Given the description of an element on the screen output the (x, y) to click on. 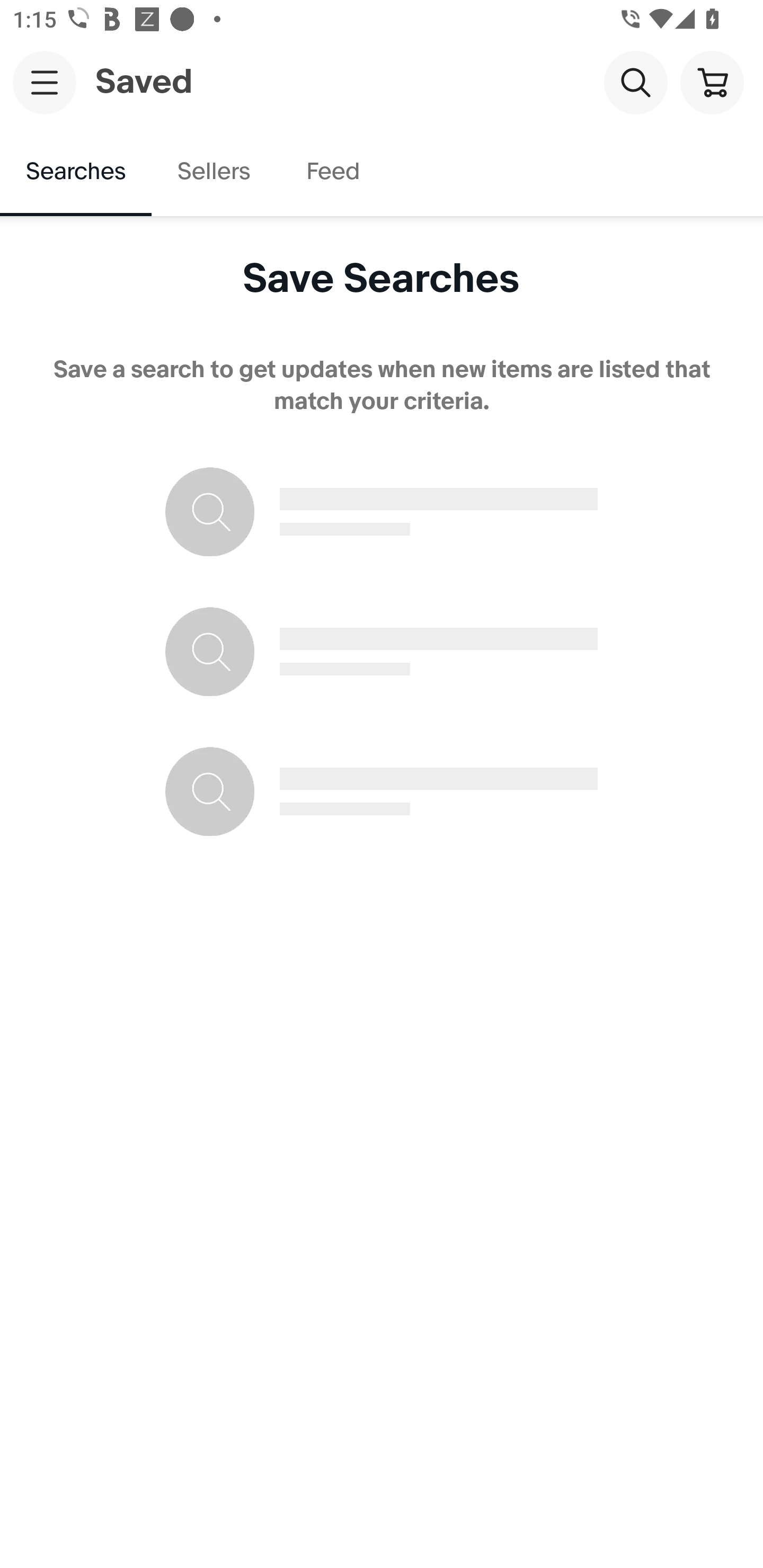
Main navigation, open (44, 82)
Search (635, 81)
Cart button shopping cart (711, 81)
Sellers (213, 171)
Feed (332, 171)
